Given the description of an element on the screen output the (x, y) to click on. 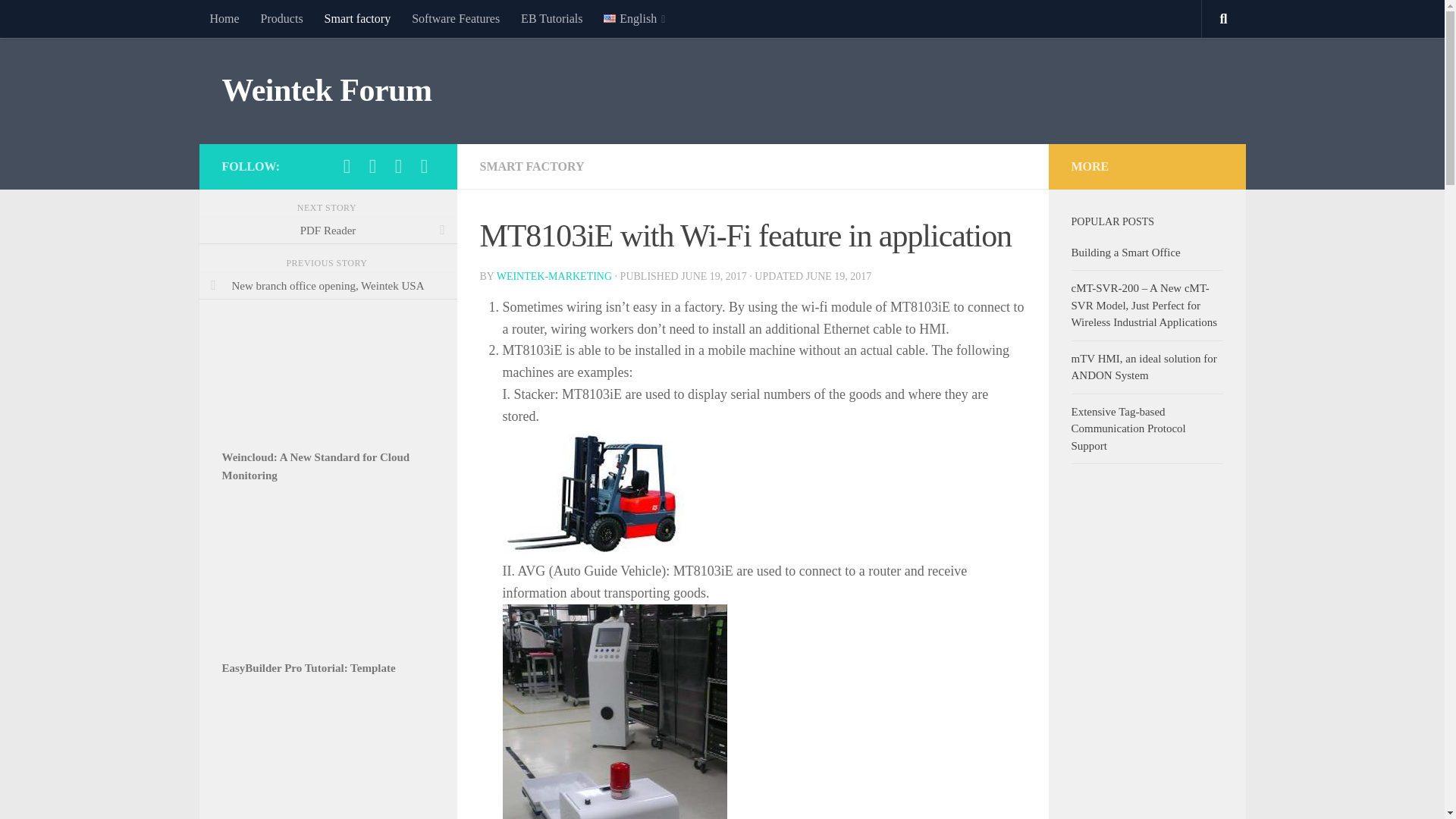
Software Features (456, 18)
Follow us on Email (397, 166)
Posts by weintek-marketing (553, 276)
Weintek Forum (325, 90)
WEINTEK-MARKETING (553, 276)
Follow us on Facebook-official (346, 166)
English (633, 18)
Follow us on Youtube-square (423, 166)
Home (223, 18)
EB Tutorials (551, 18)
Weintek EasyBuilder Pro tutorial - 79. Template (327, 593)
SMART FACTORY (531, 165)
Skip to content (59, 20)
Smart factory (357, 18)
Follow us on Linkedin-square (371, 166)
